Given the description of an element on the screen output the (x, y) to click on. 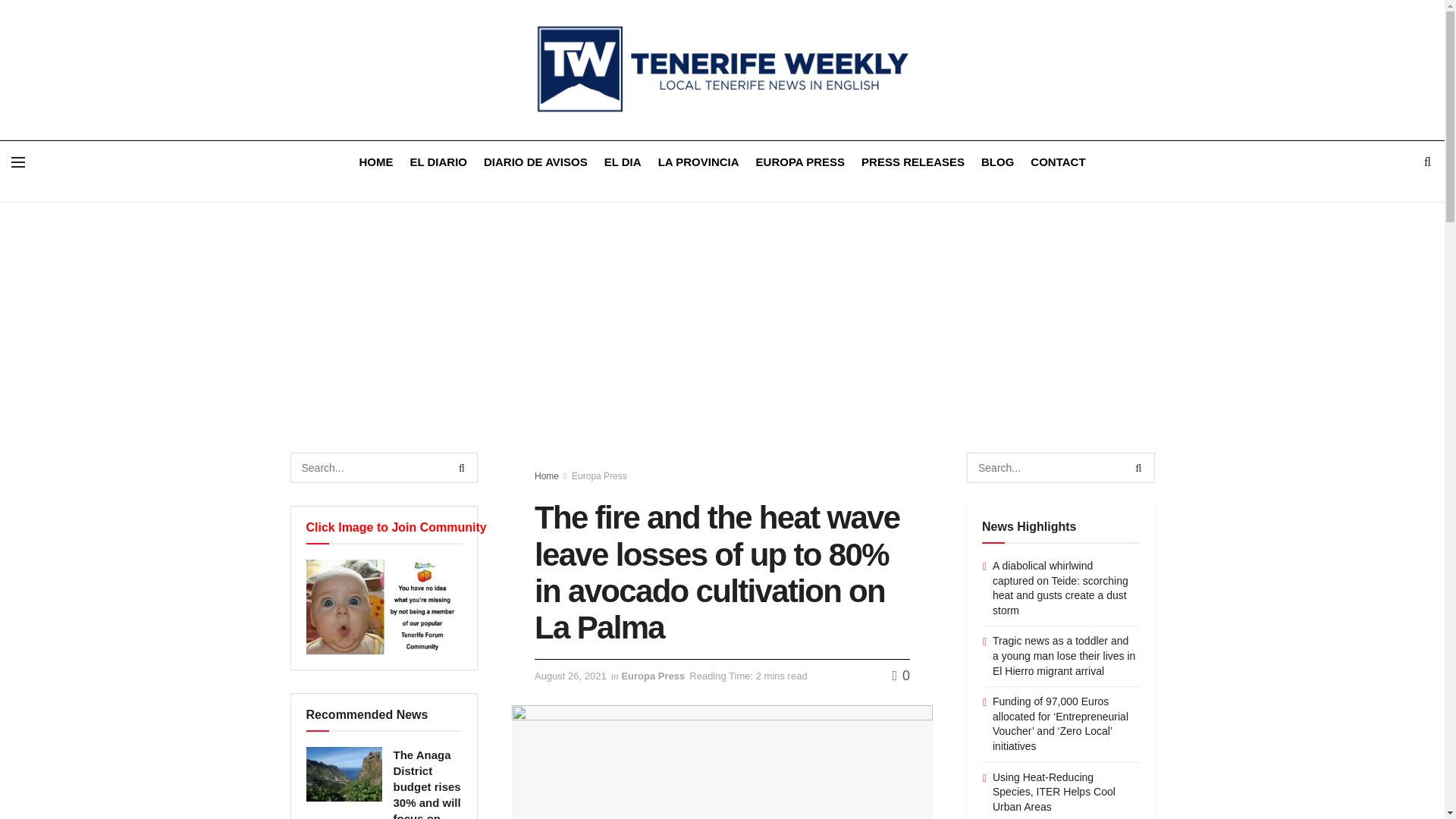
August 26, 2021 (570, 675)
BLOG (997, 161)
0 (900, 675)
Europa Press (599, 475)
EUROPA PRESS (800, 161)
Europa Press (652, 675)
EL DIARIO (438, 161)
Home (546, 475)
PRESS RELEASES (912, 161)
DIARIO DE AVISOS (535, 161)
HOME (375, 161)
CONTACT (1057, 161)
EL DIA (623, 161)
LA PROVINCIA (698, 161)
